Given the description of an element on the screen output the (x, y) to click on. 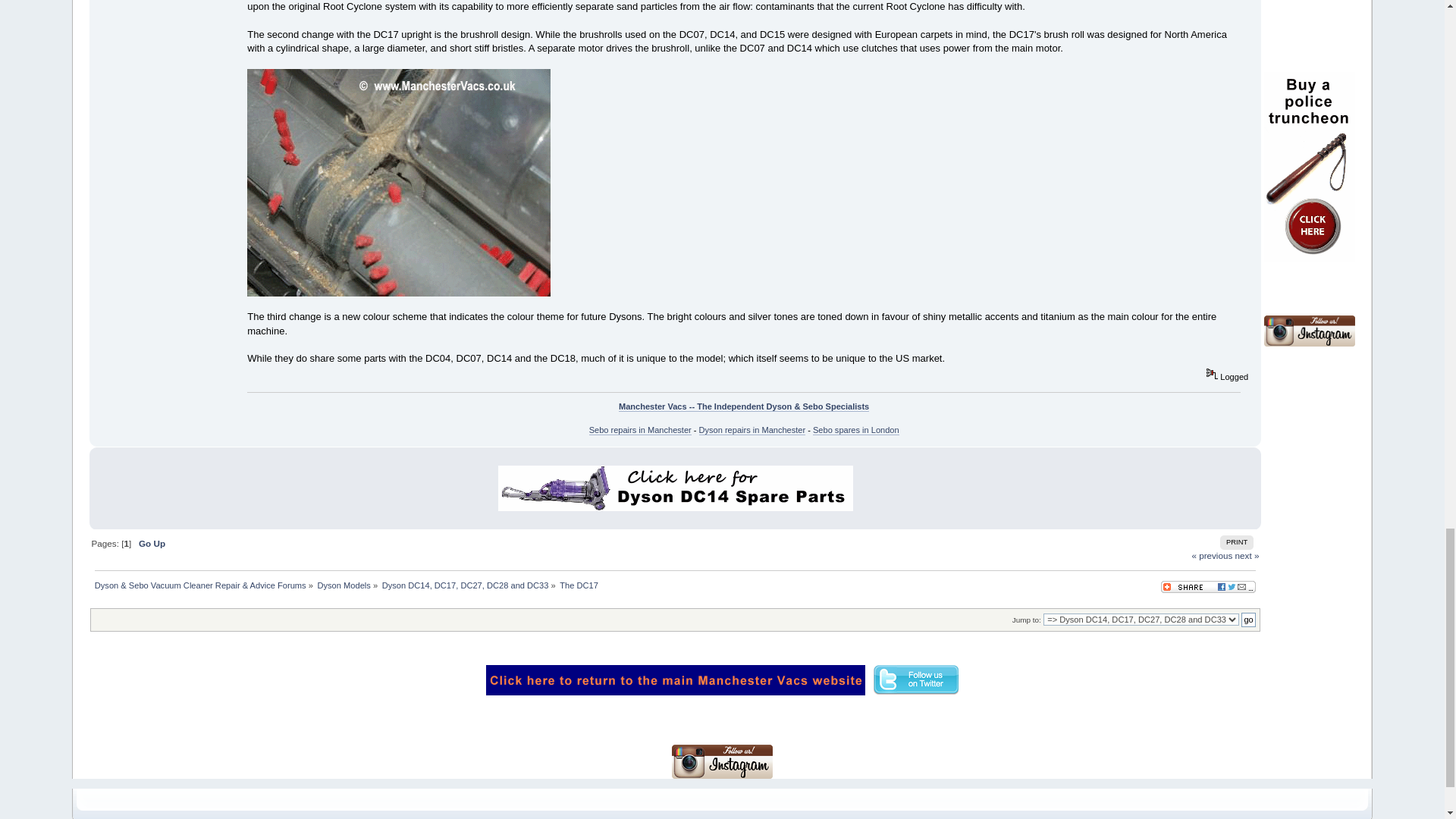
Sebo spares in London (855, 429)
Instagram (1309, 330)
DC14 Spare Parts (674, 488)
Dyson Spares, Parts, Advice (675, 680)
Follow us on Twitter (915, 680)
Dyson repairs in Manchester (752, 429)
Sebo repairs in Manchester (640, 429)
go (1248, 619)
